Given the description of an element on the screen output the (x, y) to click on. 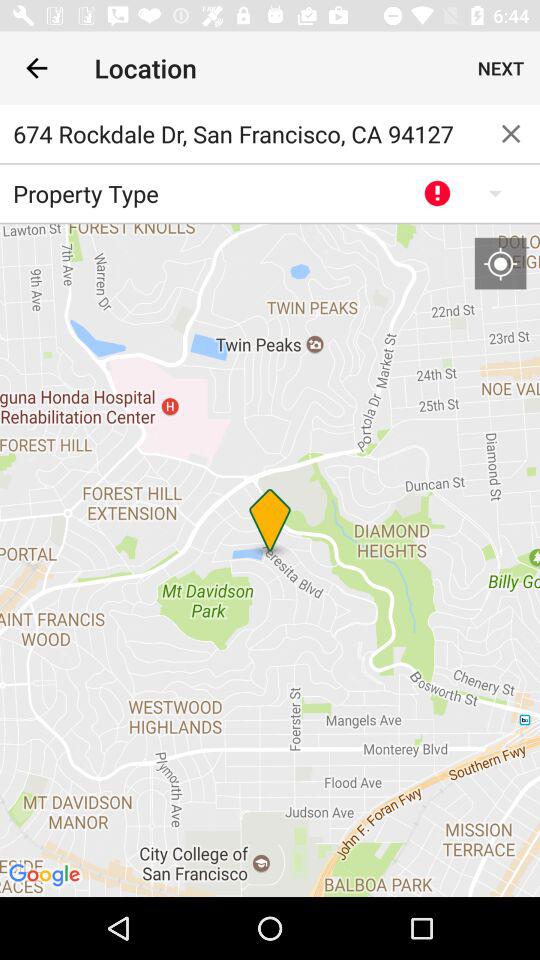
clear location (511, 133)
